Given the description of an element on the screen output the (x, y) to click on. 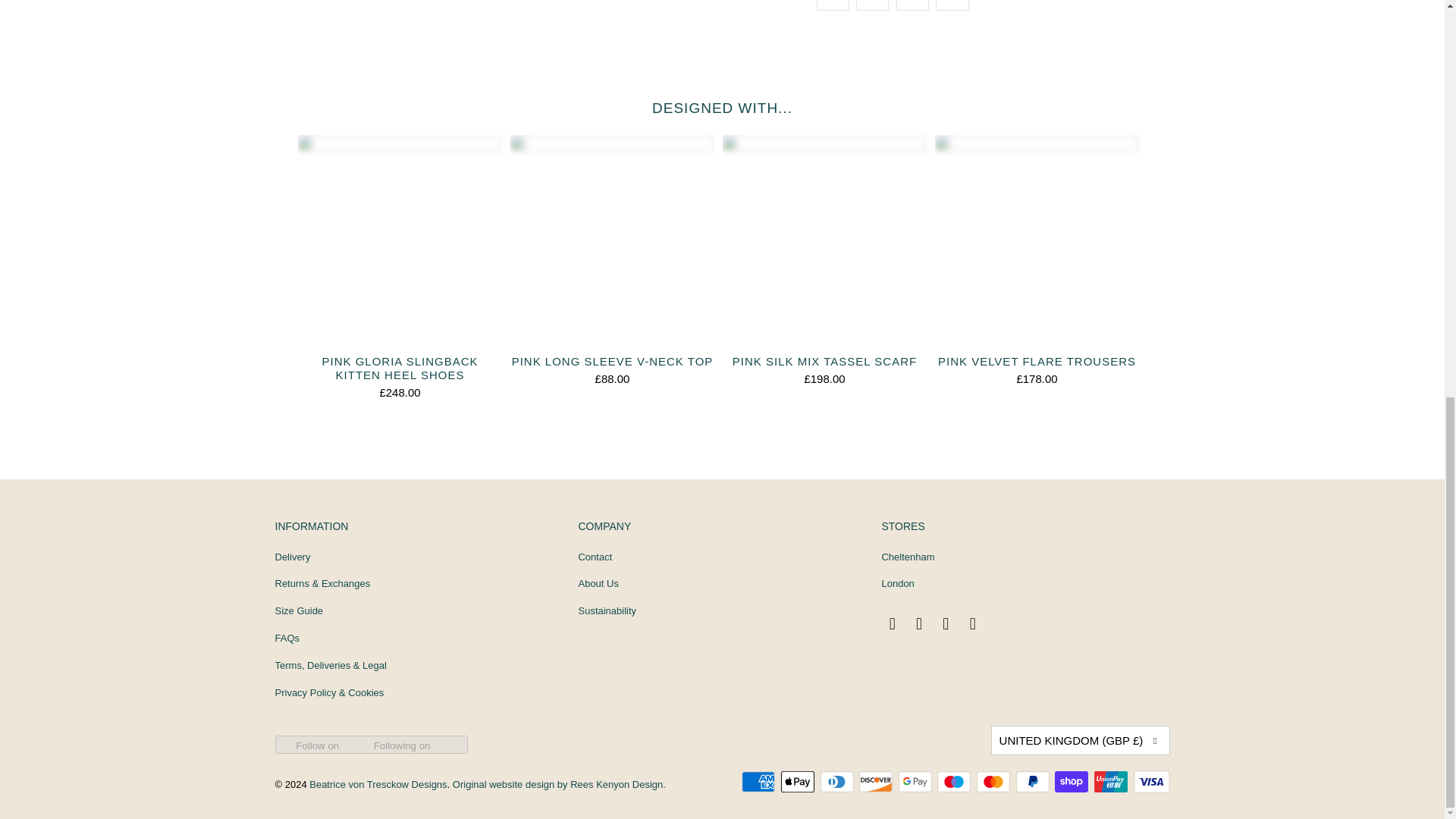
Beatrice von Tresckow Designs on Facebook (892, 624)
Beatrice von Tresckow Designs on Instagram (919, 624)
Share this on Facebook (872, 5)
Visa (1150, 781)
Shop Pay (1072, 781)
PayPal (1034, 781)
Mastercard (994, 781)
Diners Club (839, 781)
Share this on Pinterest (912, 5)
Apple Pay (798, 781)
Union Pay (1112, 781)
Maestro (955, 781)
Discover (877, 781)
Share this on Twitter (831, 5)
Email this to a friend (952, 5)
